Given the description of an element on the screen output the (x, y) to click on. 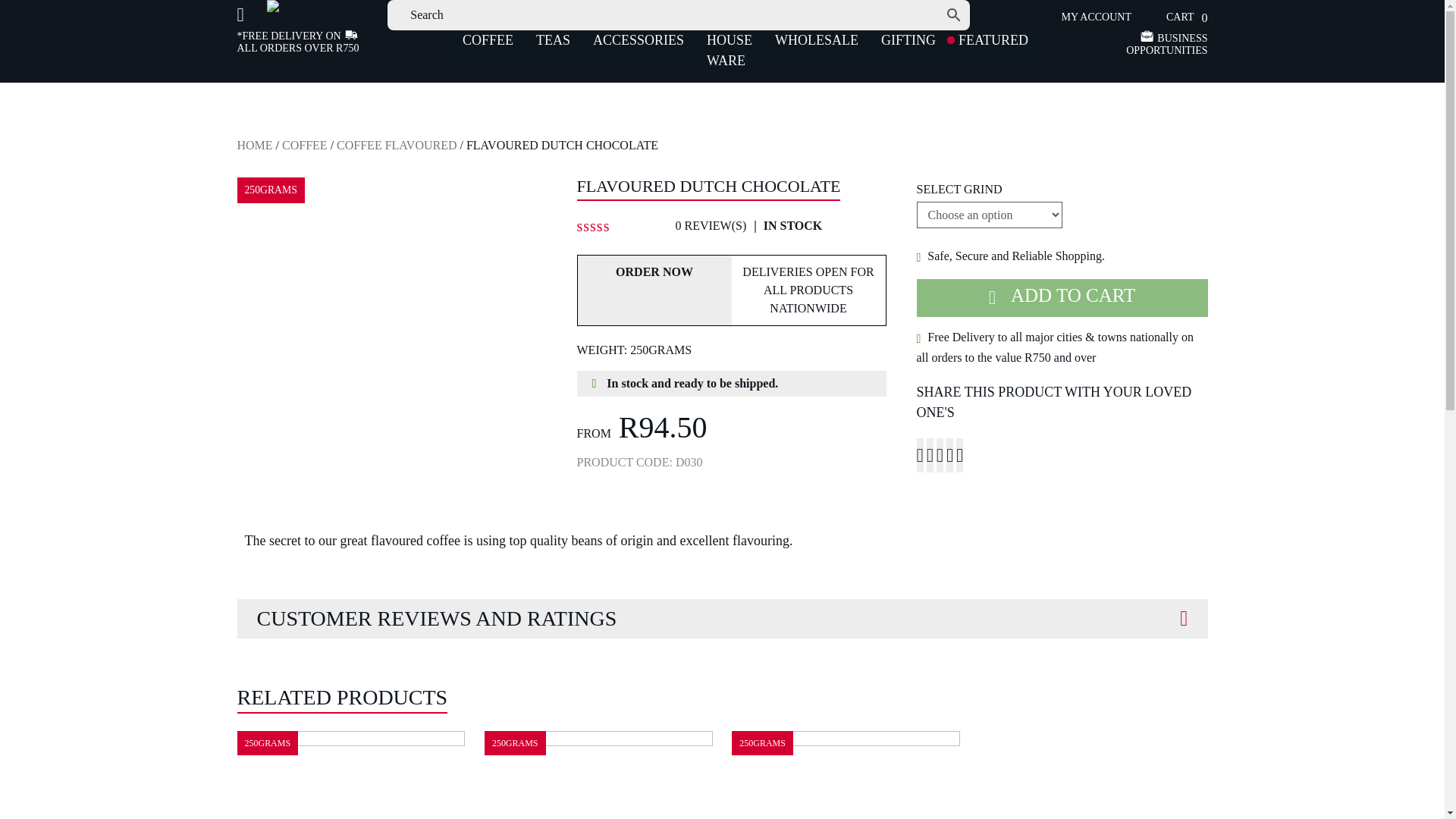
FEATURED (993, 40)
TEAS (552, 40)
COFFEE (487, 40)
WHOLESALE (815, 40)
HOUSE WARE (728, 50)
MY ACCOUNT (1085, 16)
ACCESSORIES (637, 40)
GIFTING (908, 40)
